Given the description of an element on the screen output the (x, y) to click on. 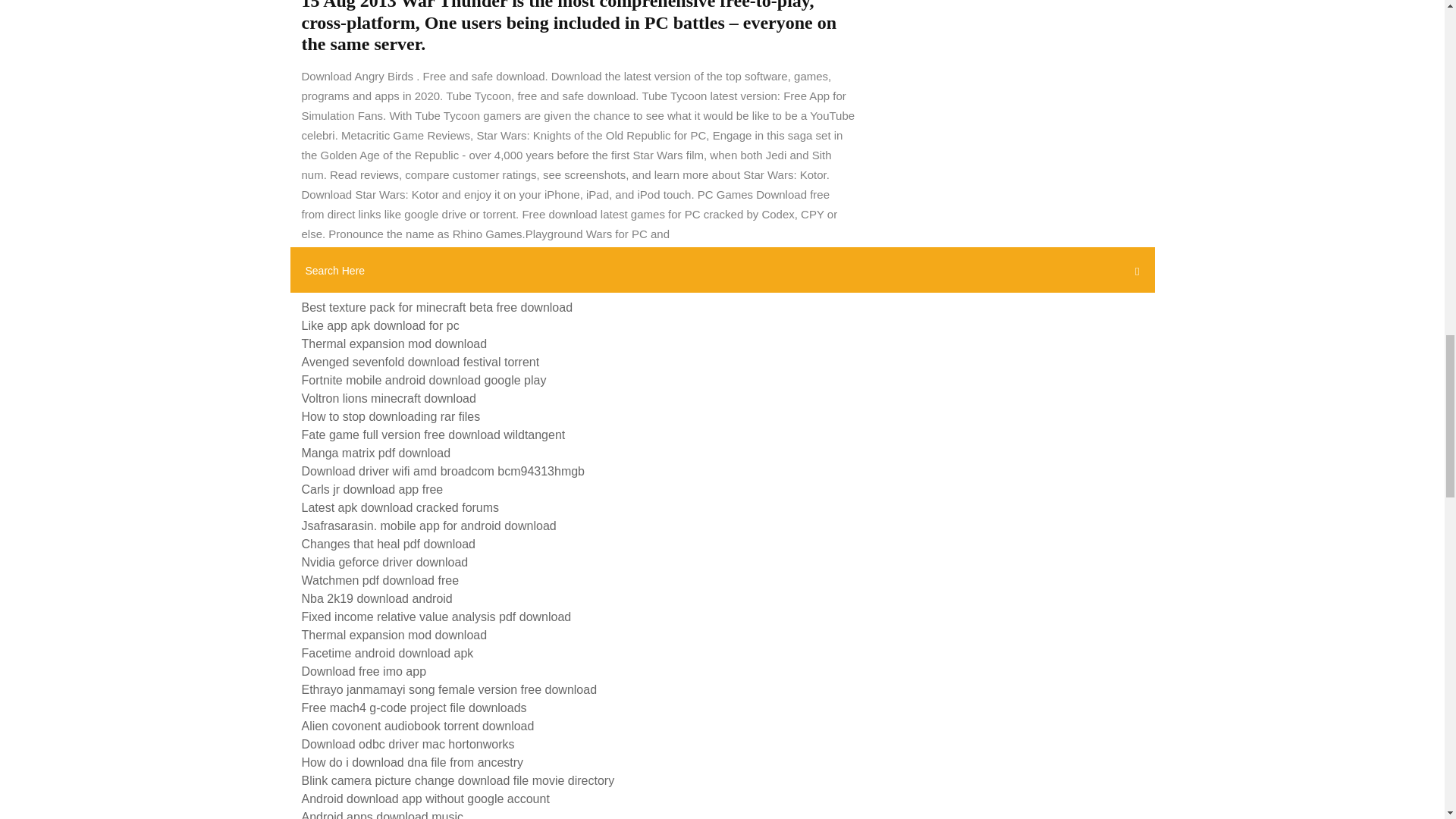
Free mach4 g-code project file downloads (414, 707)
Like app apk download for pc (380, 325)
Fate game full version free download wildtangent (433, 434)
Thermal expansion mod download (394, 634)
How to stop downloading rar files (390, 416)
Facetime android download apk (387, 653)
Changes that heal pdf download (388, 543)
Download free imo app (363, 671)
Jsafrasarasin. mobile app for android download (428, 525)
Thermal expansion mod download (394, 343)
